Given the description of an element on the screen output the (x, y) to click on. 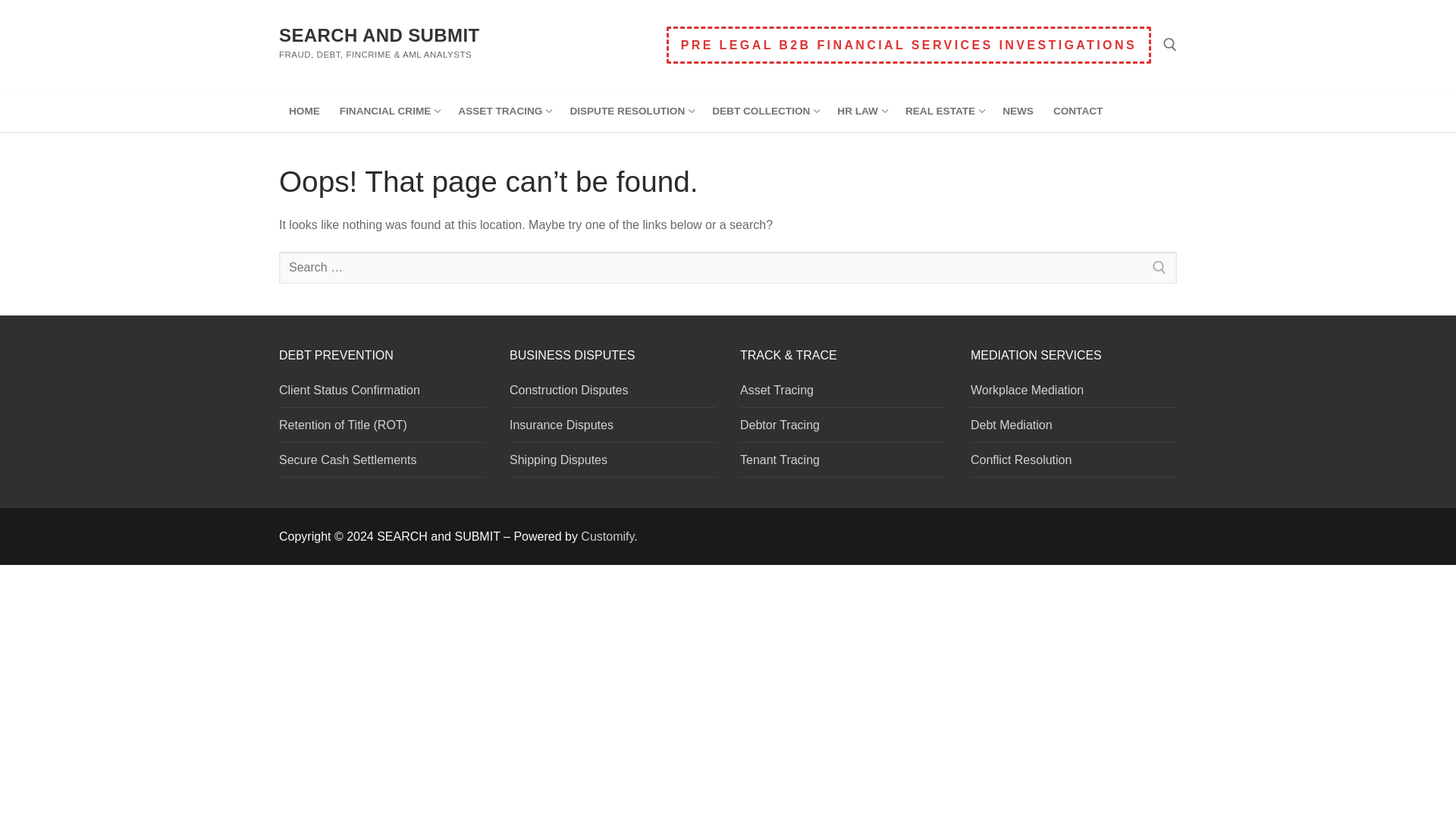
SEARCH AND SUBMIT (389, 111)
PRE LEGAL B2B FINANCIAL SERVICES INVESTIGATIONS (861, 111)
HOME (379, 34)
